Given the description of an element on the screen output the (x, y) to click on. 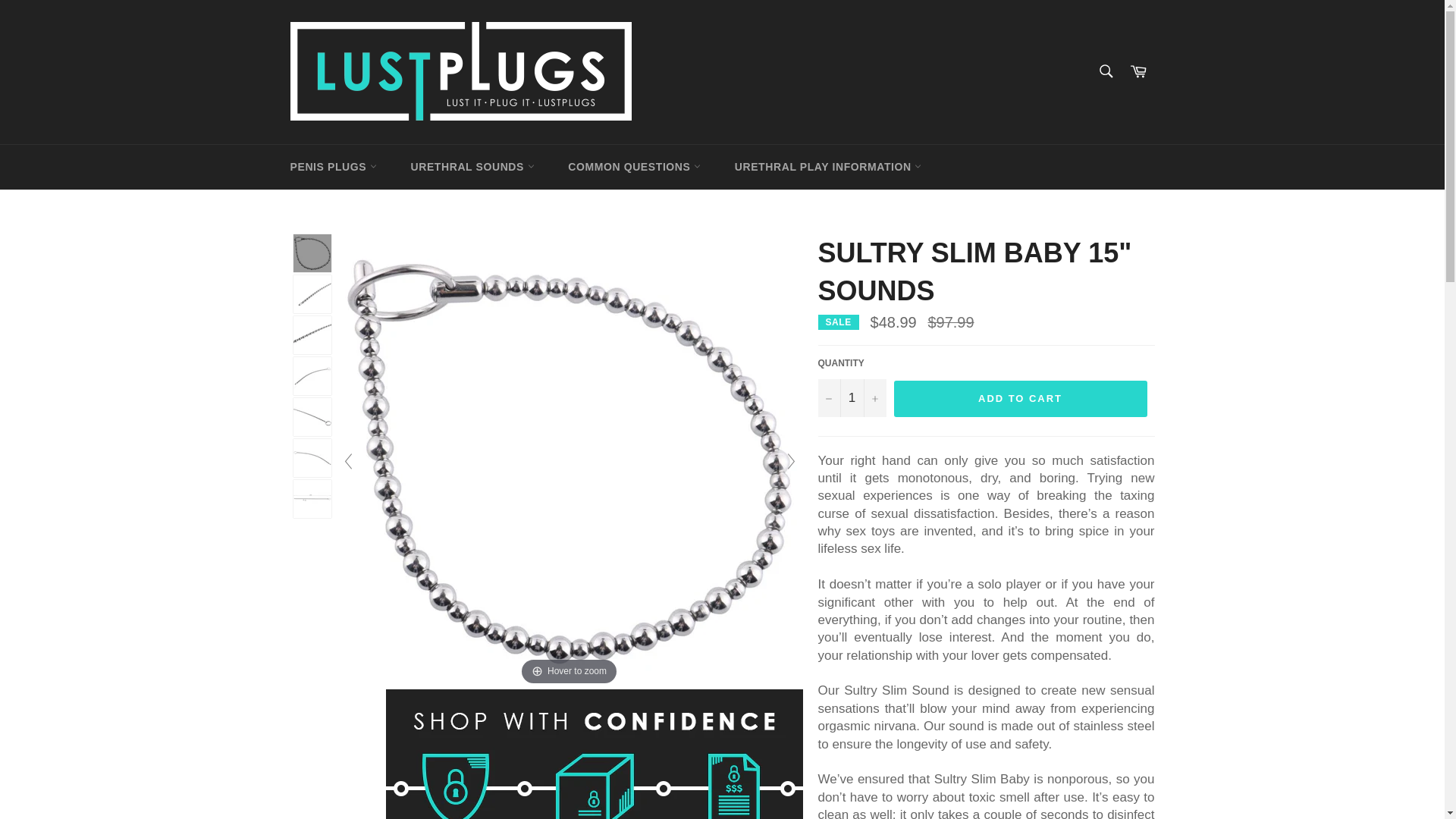
1 (850, 397)
Sultry Slim Baby 15" Sounds (311, 252)
Sultry Slim Baby 15" Sounds (311, 498)
Sultry Slim Baby 15" Sounds (311, 375)
Sultry Slim Baby 15" Sounds (311, 334)
Sultry Slim Baby 15" Sounds (311, 293)
Sultry Slim Baby 15" Sounds (311, 416)
Sultry Slim Baby 15" Sounds (311, 457)
PENIS PLUGS (333, 166)
Cart (1138, 71)
